Given the description of an element on the screen output the (x, y) to click on. 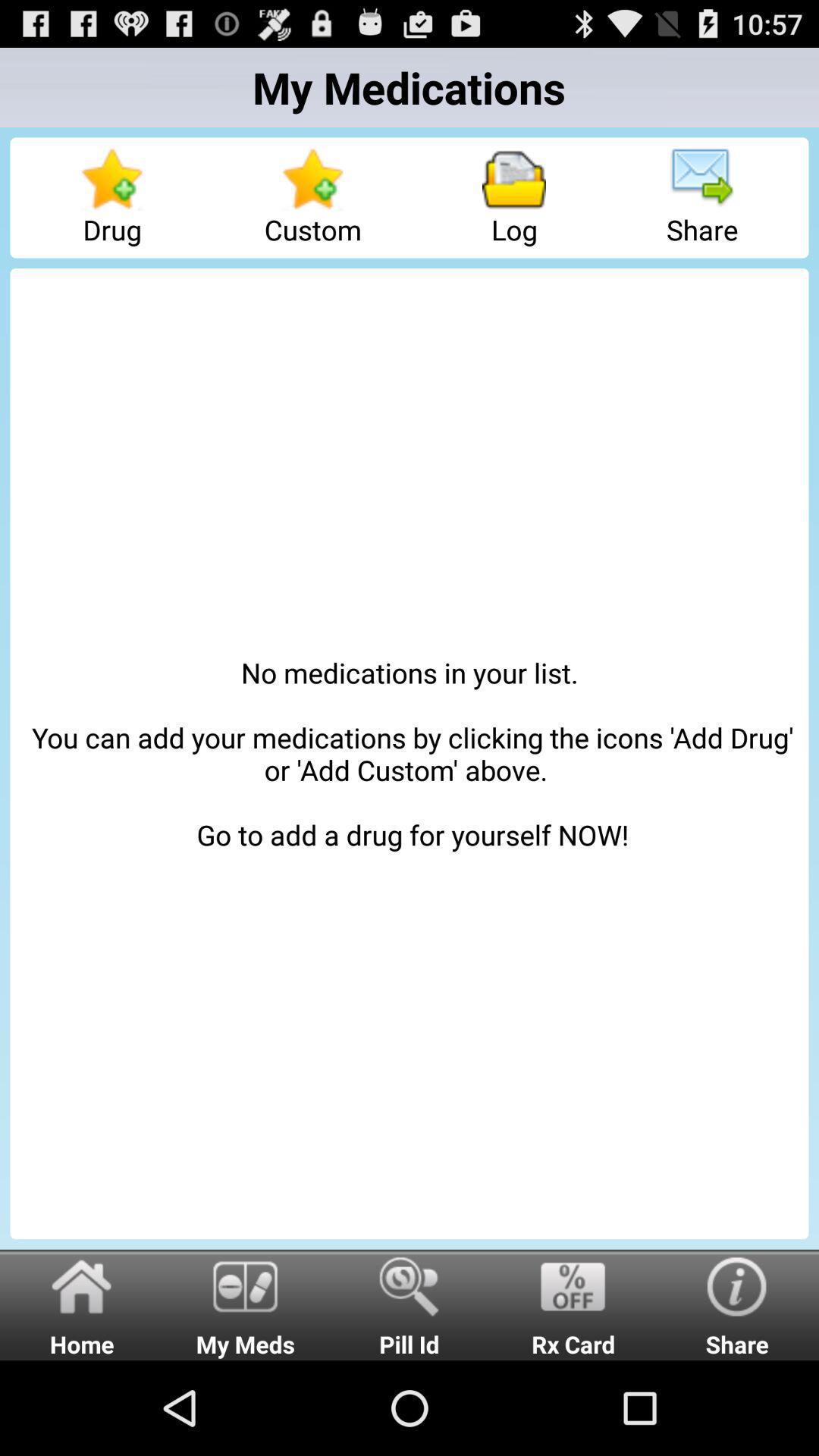
choose the item next to home (245, 1304)
